Given the description of an element on the screen output the (x, y) to click on. 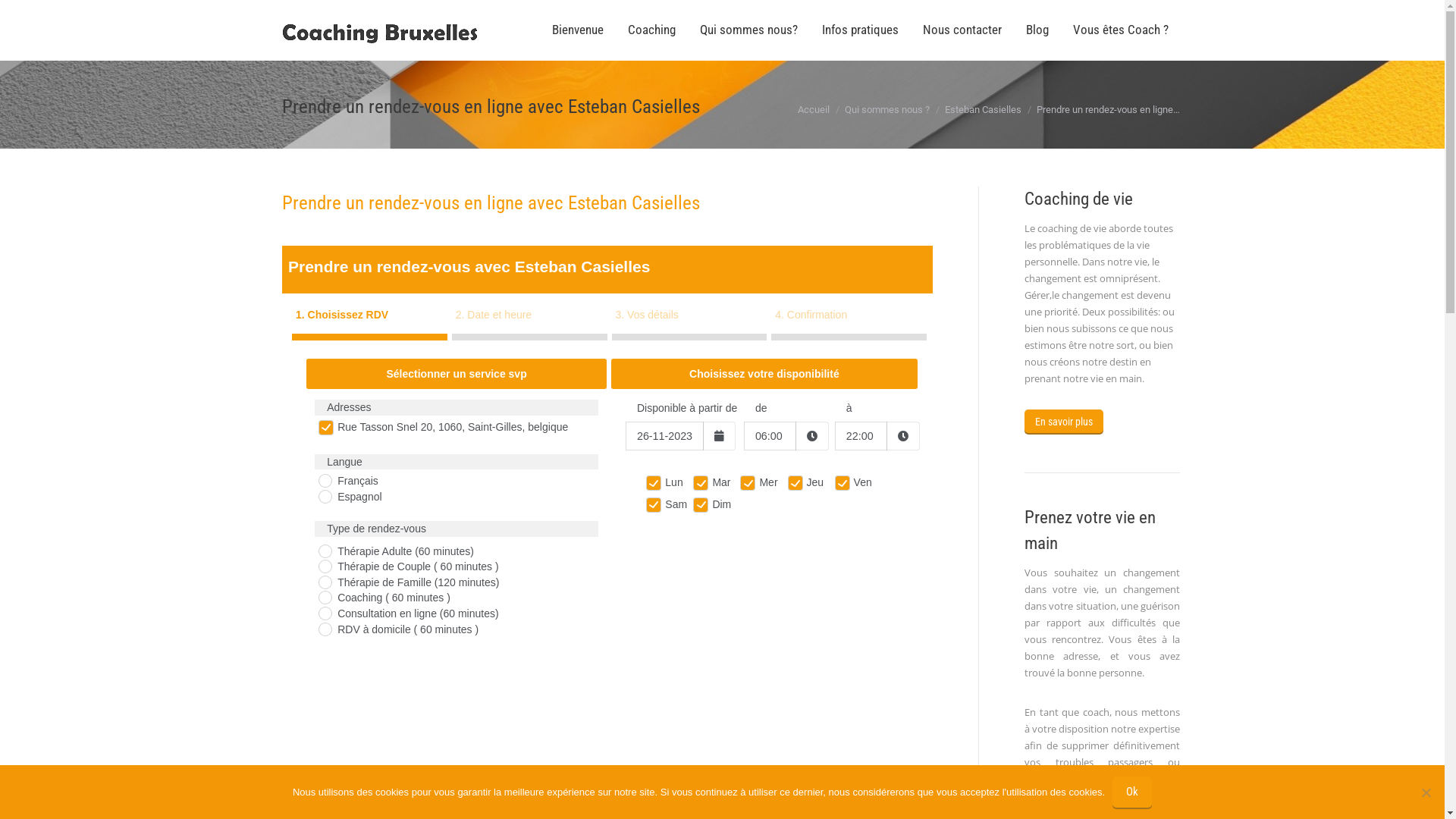
En savoir plus Element type: text (1062, 421)
Blog Element type: text (1038, 30)
Infos pratiques Element type: text (860, 30)
Qui sommes nous? Element type: text (749, 30)
Accueil Element type: text (813, 109)
Ok Element type: text (1131, 791)
Nous contacter Element type: text (963, 30)
Coaching Element type: text (651, 30)
No Element type: hover (1425, 791)
Bienvenue Element type: text (577, 30)
Esteban Casielles Element type: text (982, 109)
Qui sommes nous ? Element type: text (886, 109)
